Given the description of an element on the screen output the (x, y) to click on. 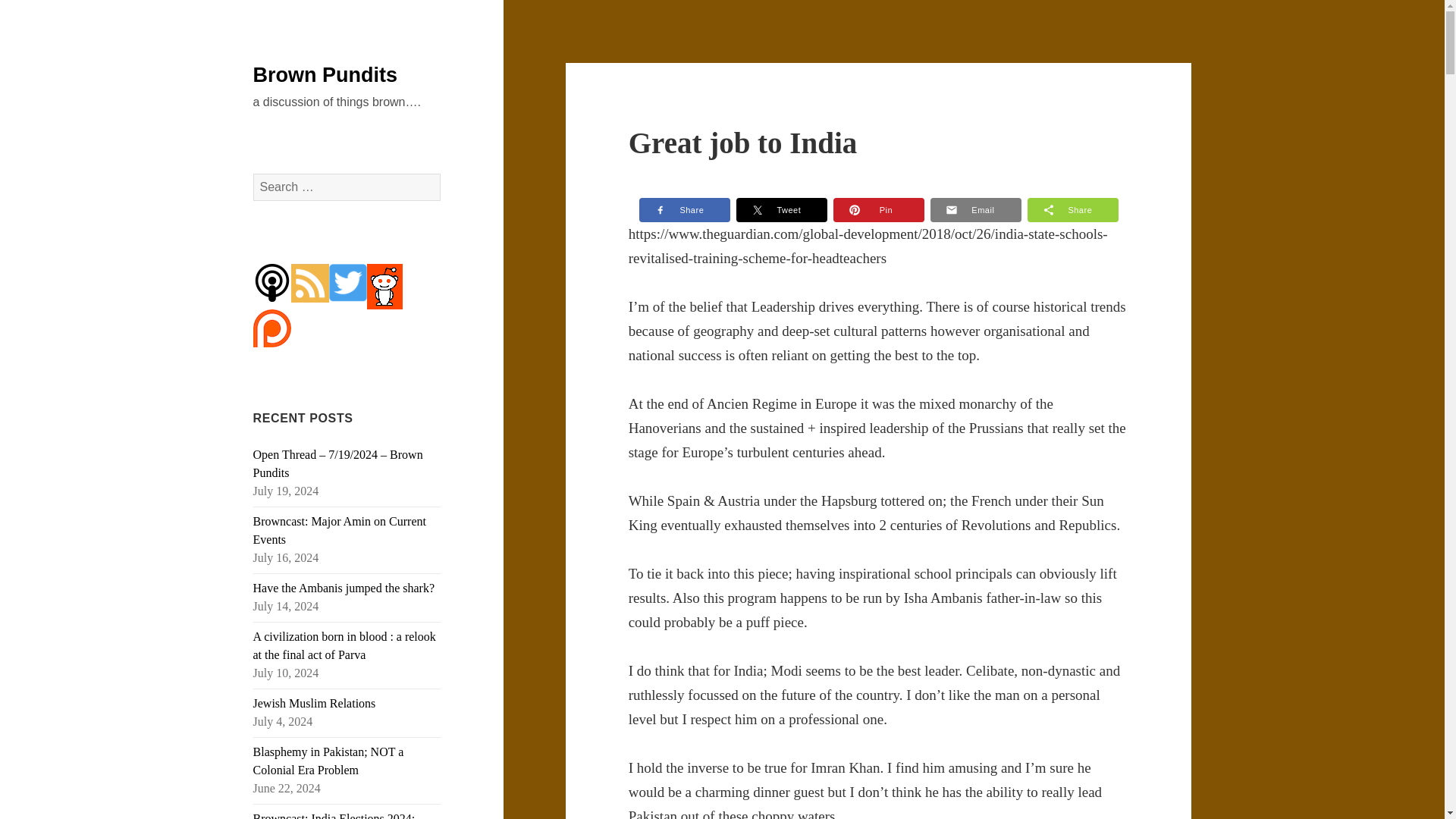
Browncast: India Elections 2024; Ashvamedha Interrupted (333, 815)
Jewish Muslim Relations (314, 703)
Have the Ambanis jumped the shark? (344, 587)
Blasphemy in Pakistan; NOT a Colonial Era Problem (328, 760)
Browncast: Major Amin on Current Events (339, 530)
Brown Pundits (325, 74)
